Given the description of an element on the screen output the (x, y) to click on. 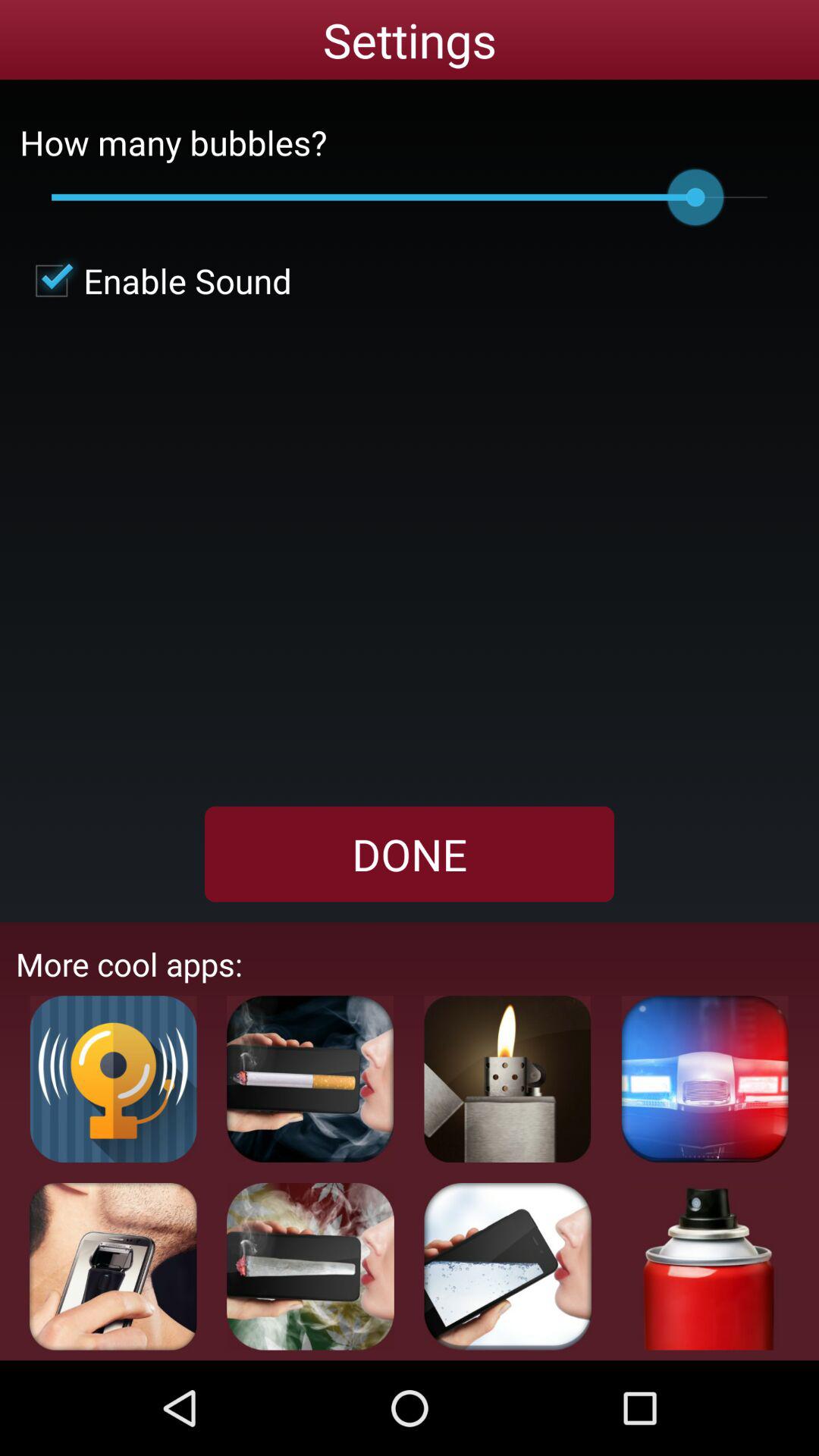
open button above the done (155, 280)
